Given the description of an element on the screen output the (x, y) to click on. 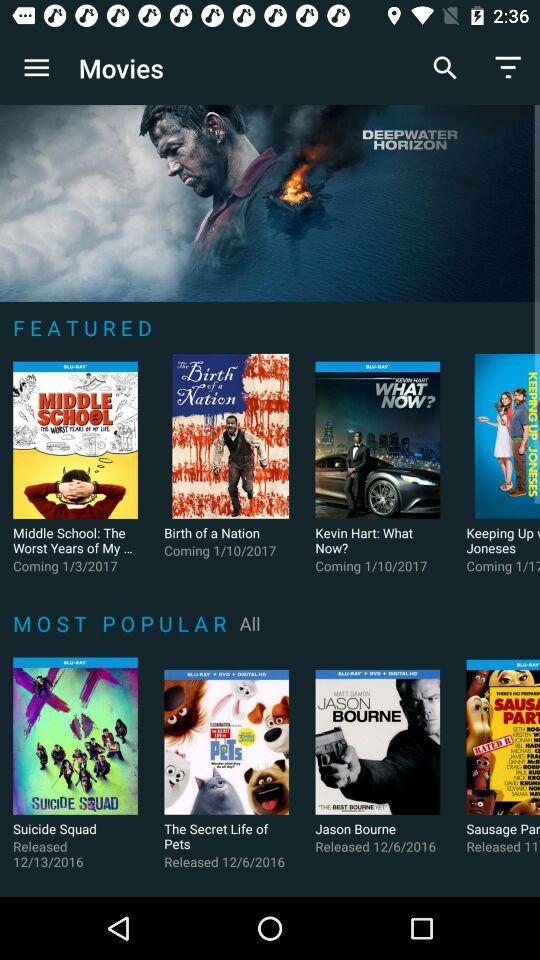
launch the icon to the right of the m o s item (249, 623)
